Given the description of an element on the screen output the (x, y) to click on. 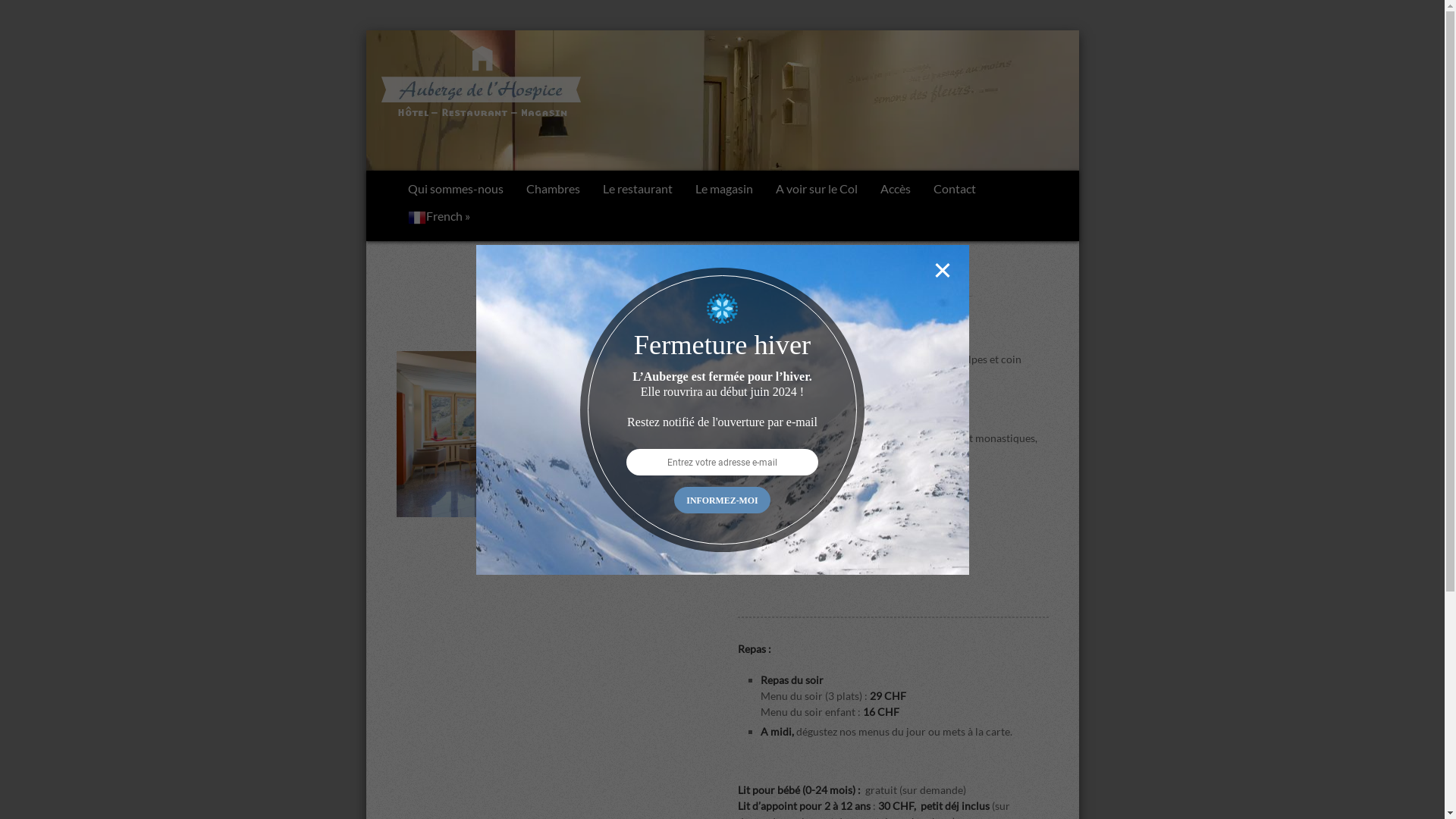
1 Element type: text (507, 532)
Contact Element type: text (954, 190)
Le magasin Element type: text (724, 190)
Qui sommes-nous Element type: text (454, 190)
3 Element type: text (542, 532)
6 Element type: text (595, 532)
Chambres Element type: text (552, 190)
2 Element type: text (525, 532)
Le restaurant Element type: text (637, 190)
5 Element type: text (577, 532)
A voir sur le Col Element type: text (816, 190)
4 Element type: text (560, 532)
